Given the description of an element on the screen output the (x, y) to click on. 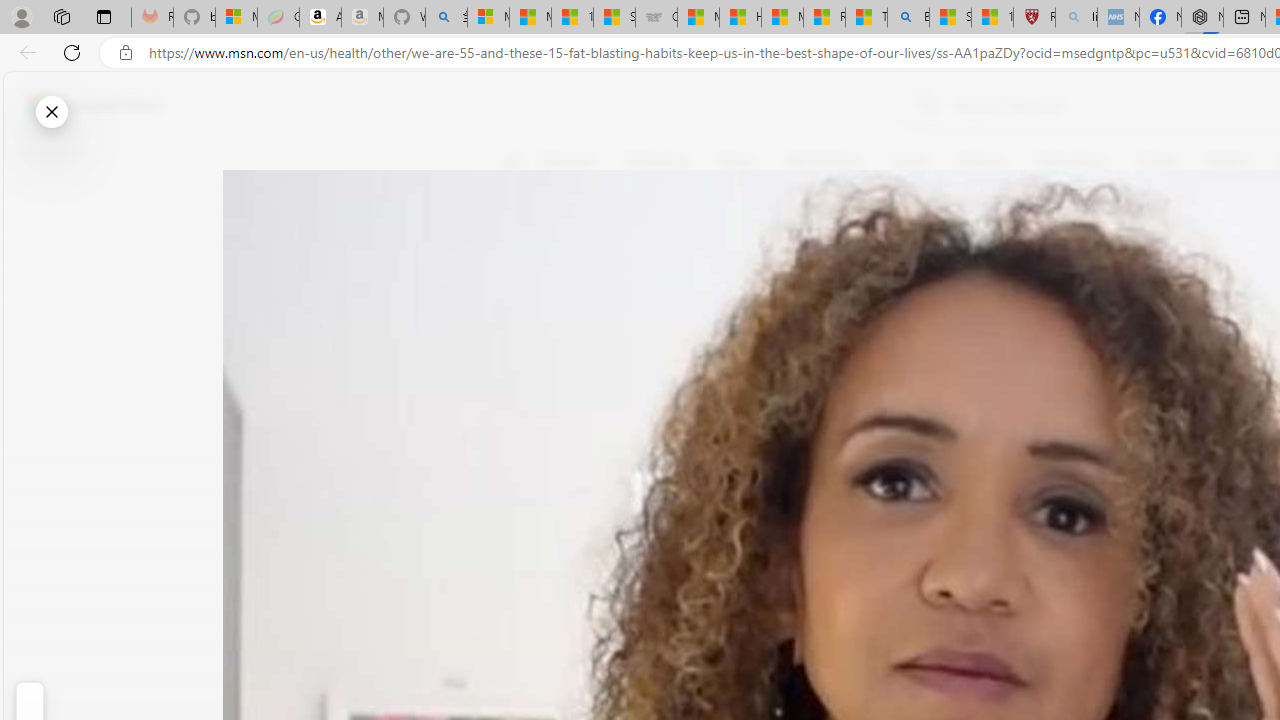
Web search (924, 105)
Robert H. Shmerling, MD - Harvard Health (1033, 17)
list of asthma inhalers uk - Search - Sleeping (1076, 17)
Crime (1156, 162)
NCL Adult Asthma Inhaler Choice Guideline - Sleeping (1118, 17)
Politics (1228, 162)
Technology (1071, 162)
